Given the description of an element on the screen output the (x, y) to click on. 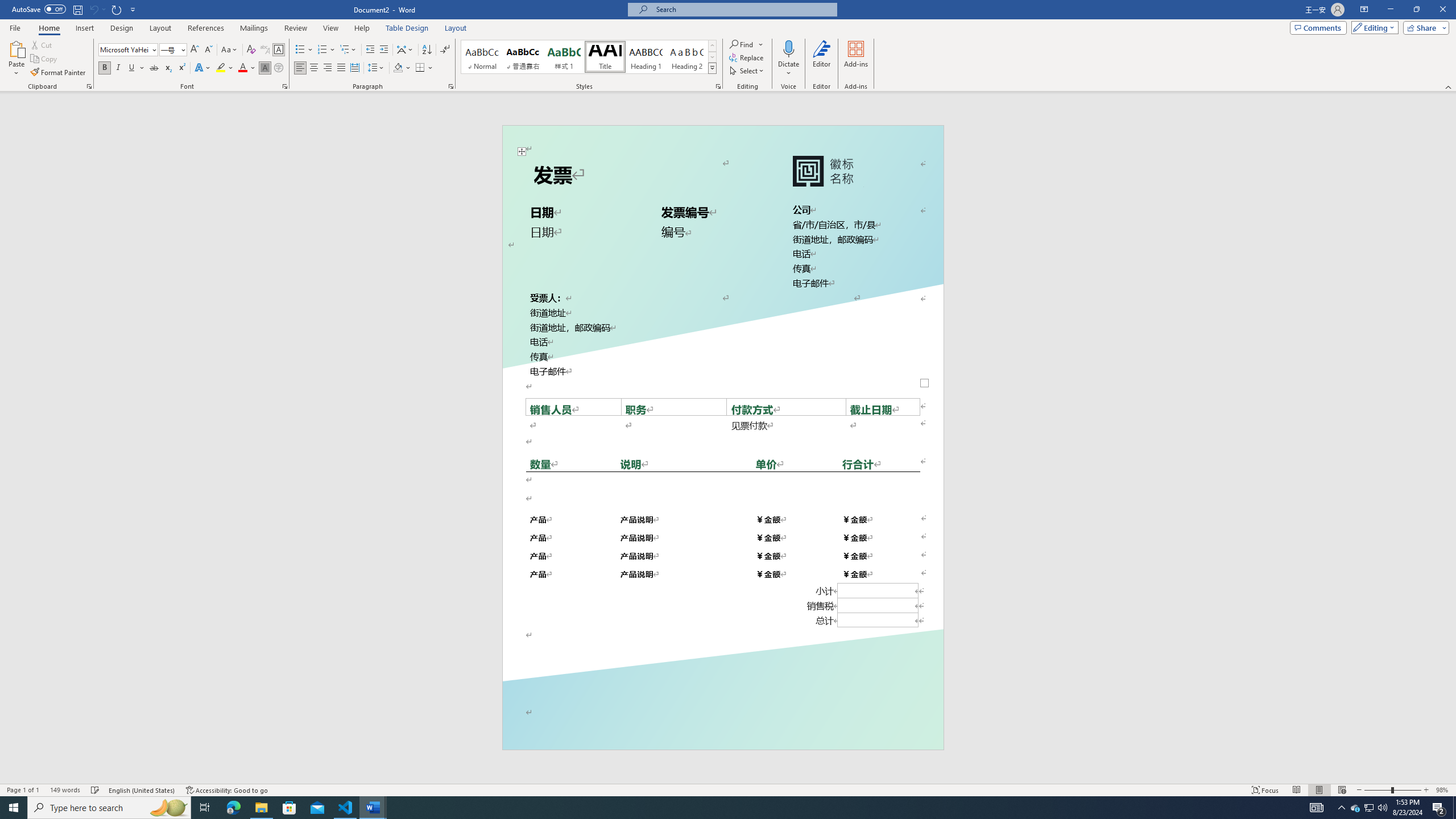
Font Size (172, 49)
Multilevel List (347, 49)
Paste (16, 58)
More Options (788, 68)
Review (295, 28)
Minimize (1390, 9)
Dictate (788, 48)
Class: NetUIImage (712, 68)
Class: NetUIScrollBar (1450, 437)
Share (1423, 27)
Title (605, 56)
Can't Undo (92, 9)
Format Painter (58, 72)
